Given the description of an element on the screen output the (x, y) to click on. 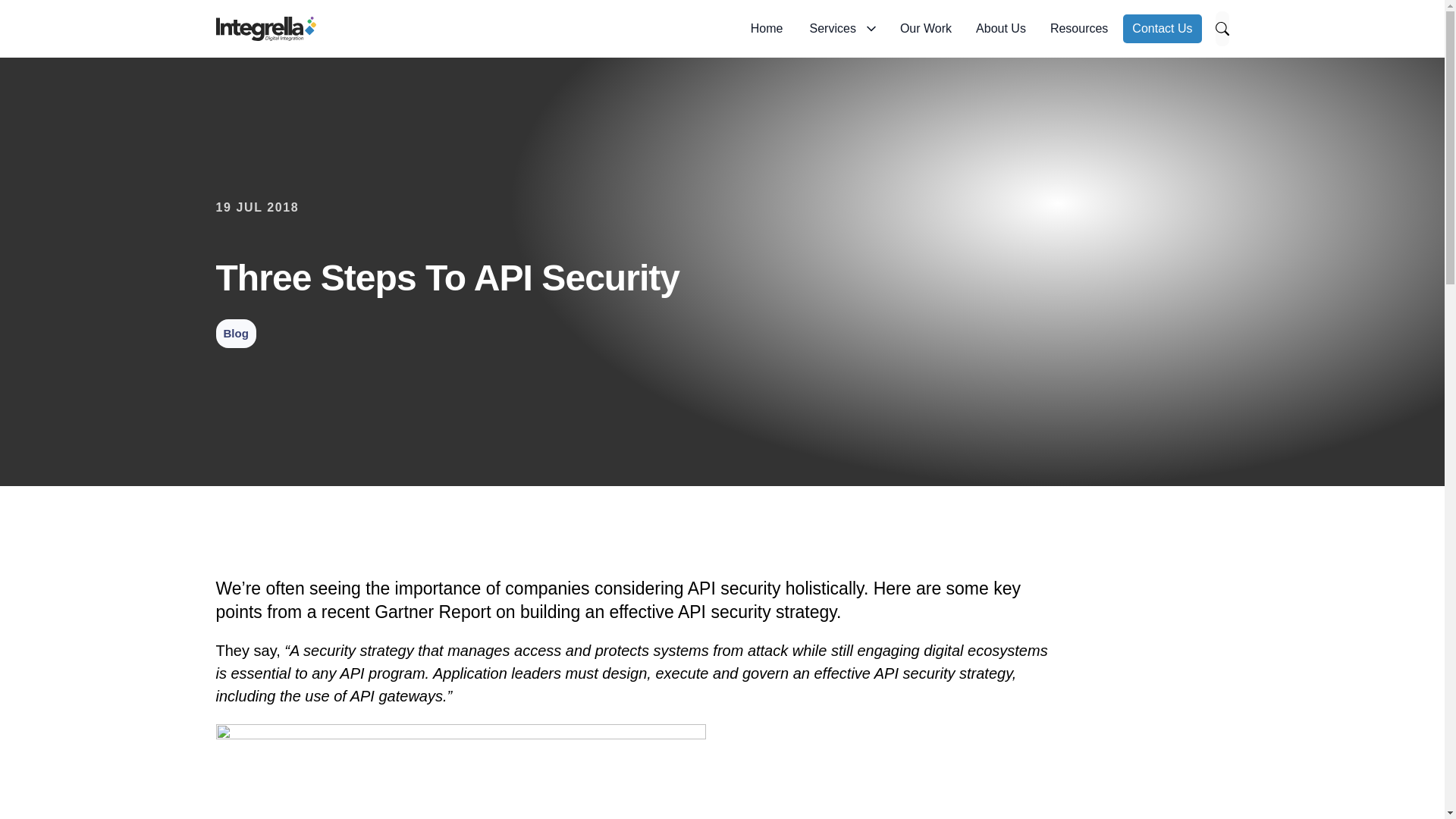
Home (766, 28)
About Us (1000, 28)
Resources (1078, 28)
Contact Us (1161, 28)
Blog (235, 332)
Our Work (925, 28)
Services (842, 28)
